Given the description of an element on the screen output the (x, y) to click on. 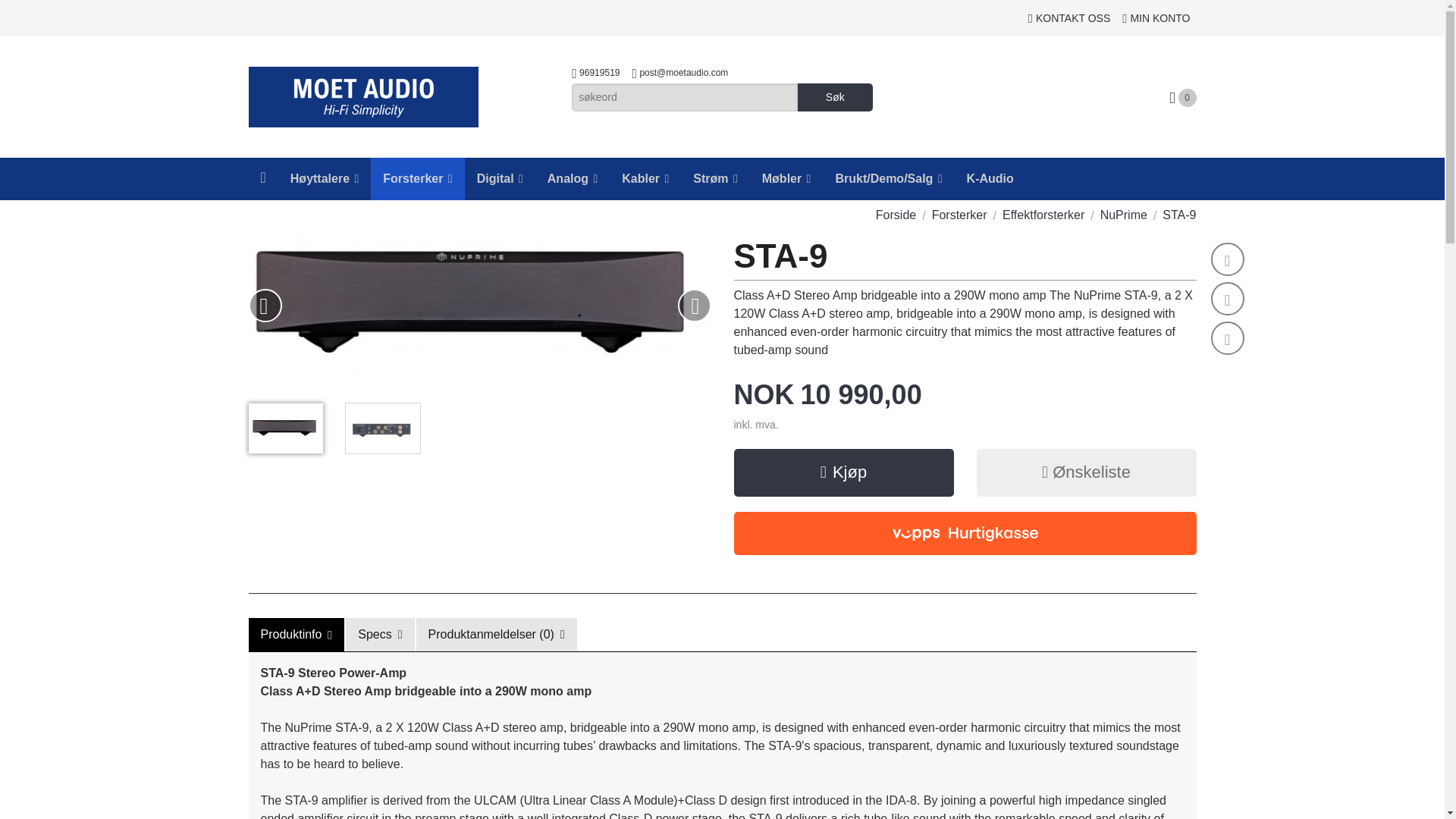
0 (1182, 97)
96919519 (599, 75)
KONTAKT OSS (1069, 18)
MIN KONTO (1155, 18)
